Given the description of an element on the screen output the (x, y) to click on. 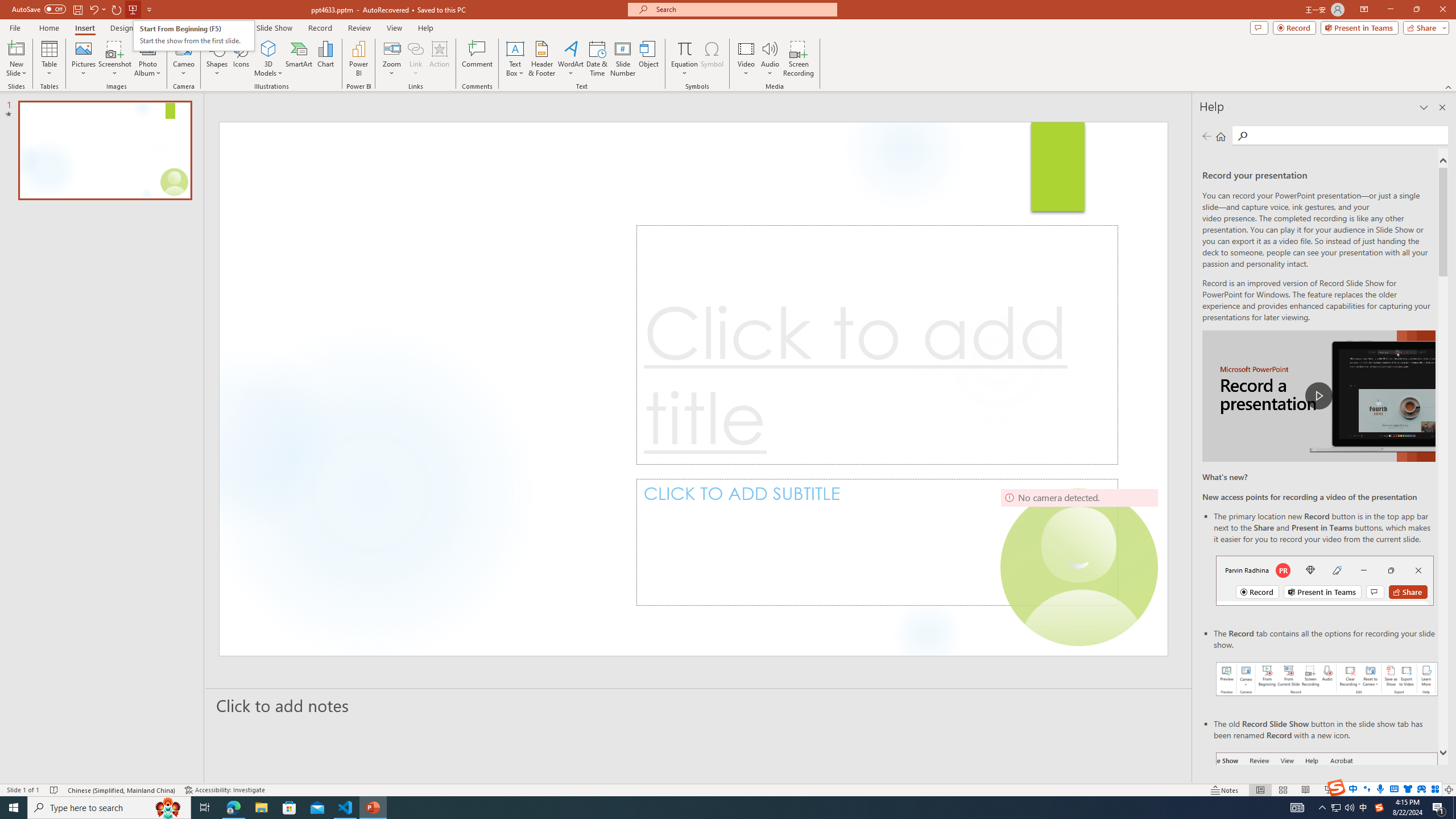
Video (745, 58)
Symbol... (711, 58)
play Record a Presentation (1318, 395)
Link (415, 48)
SmartArt... (298, 58)
Slide Number (622, 58)
